Given the description of an element on the screen output the (x, y) to click on. 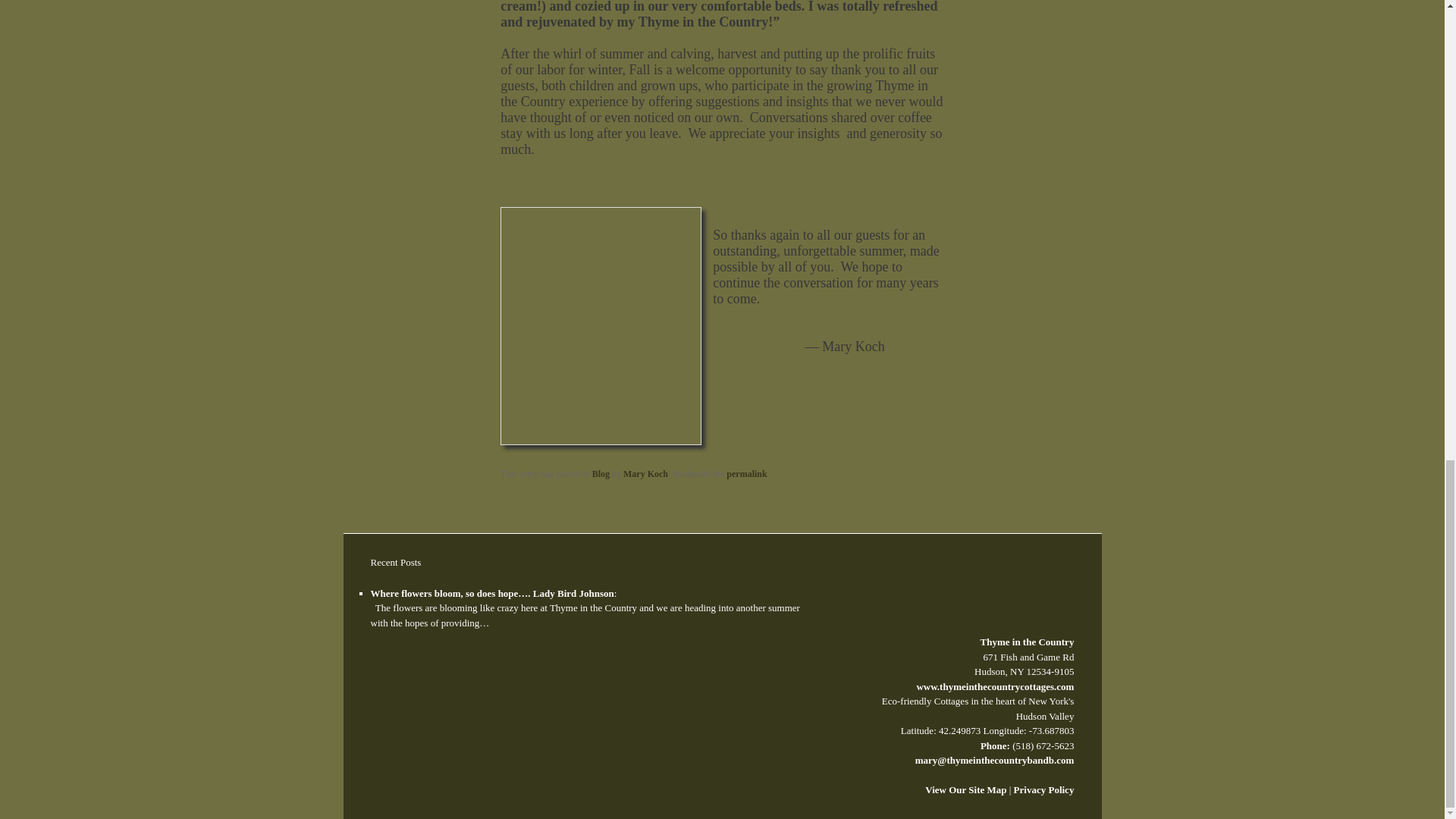
www.thymeinthecountrycottages.com (994, 686)
Mary Koch (645, 473)
Permalink to Fall Thyme Thanksgiving (746, 473)
Thyme in the Country (1010, 592)
Privacy Policy (1043, 789)
Blog (601, 473)
permalink (746, 473)
View Our Site Map (965, 789)
ECOCLUB (405, 685)
